Given the description of an element on the screen output the (x, y) to click on. 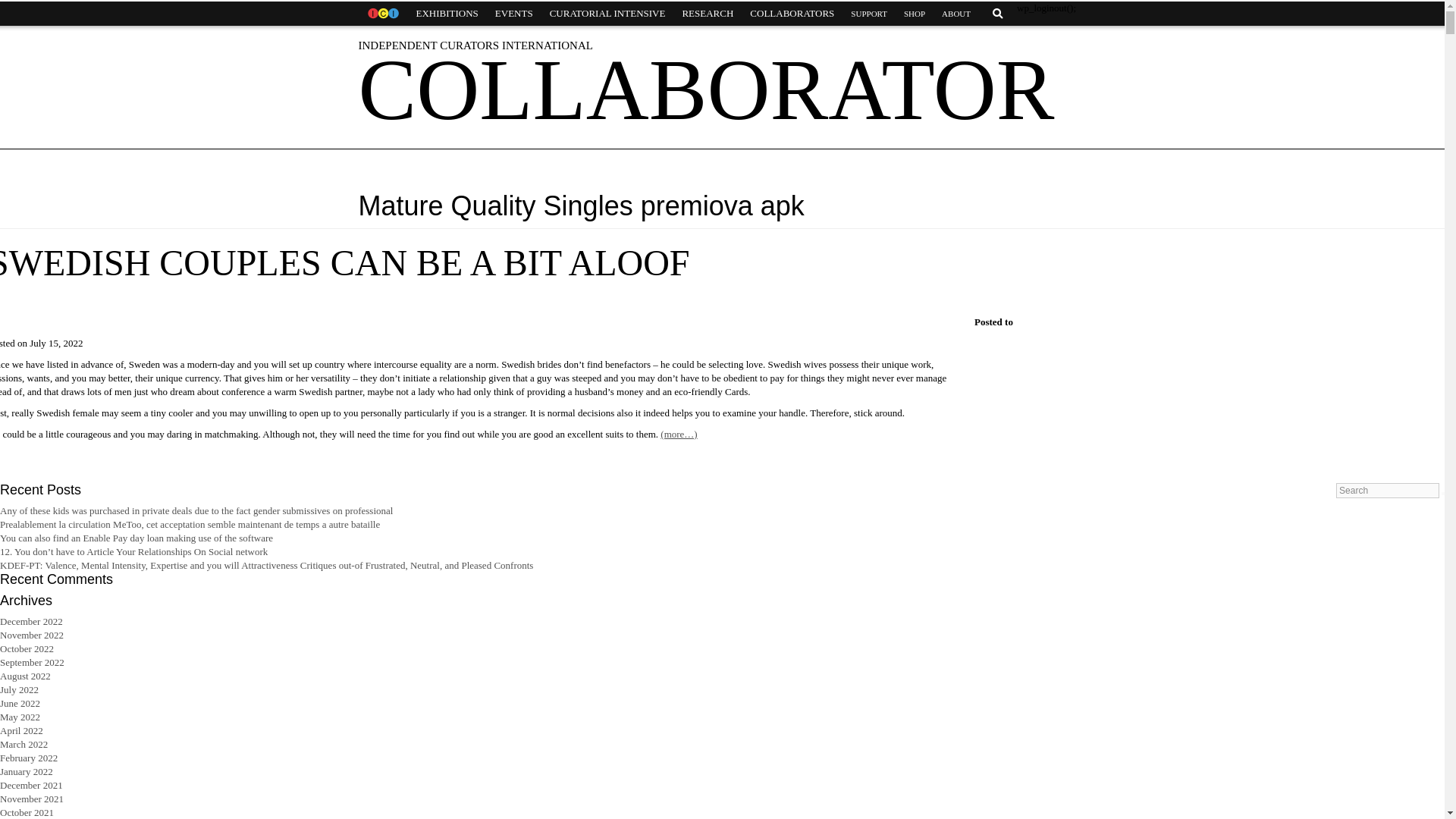
EVENTS (513, 13)
HOME (382, 13)
RESEARCH (706, 13)
CURATORIAL INTENSIVE (607, 13)
EXHIBITIONS (446, 13)
COLLABORATORS (792, 13)
